Given the description of an element on the screen output the (x, y) to click on. 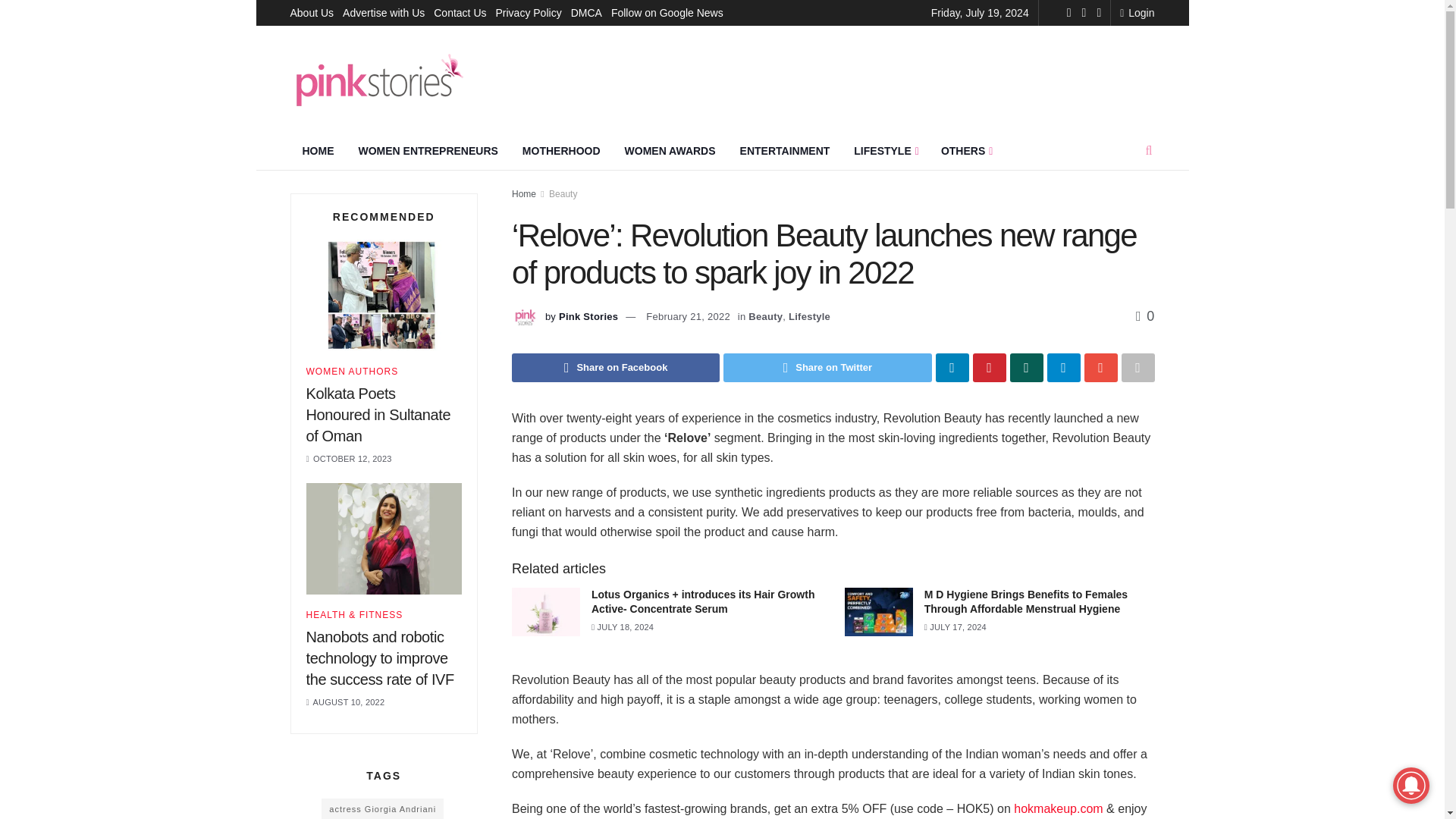
DMCA (586, 12)
HOME (317, 150)
WOMEN ENTREPRENEURS (427, 150)
Privacy Policy (529, 12)
LIFESTYLE (884, 150)
MOTHERHOOD (561, 150)
OTHERS (965, 150)
WOMEN AWARDS (670, 150)
Follow on Google News (667, 12)
Contact Us (459, 12)
ENTERTAINMENT (785, 150)
Advertise with Us (383, 12)
Login (1136, 12)
About Us (311, 12)
